Given the description of an element on the screen output the (x, y) to click on. 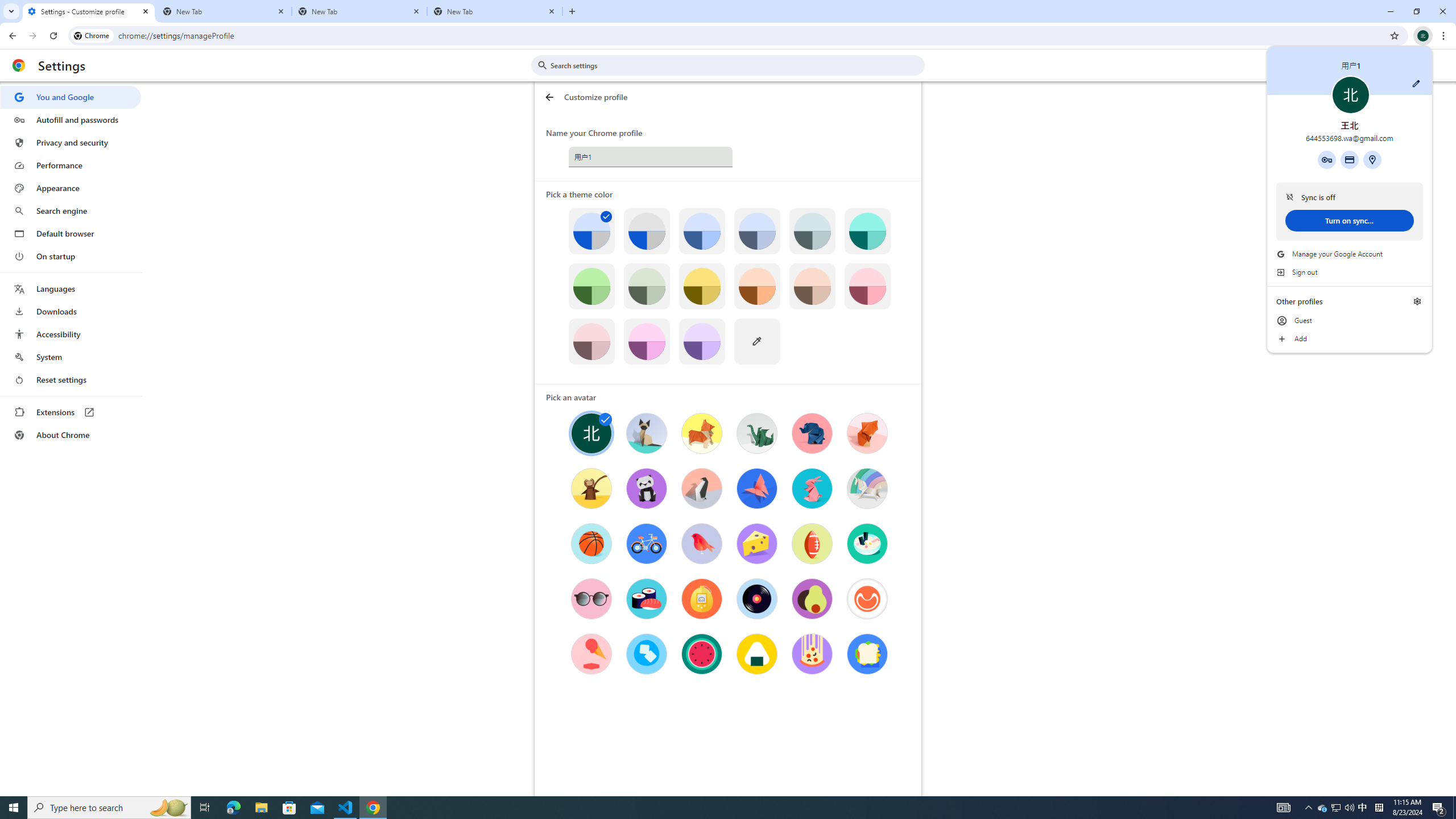
AutomationID: 4105 (1283, 807)
Languages (70, 288)
Microsoft Edge (233, 807)
You and Google (70, 96)
Reset settings (70, 379)
Extensions (70, 412)
Payment methods (1349, 159)
Running applications (700, 807)
Search highlights icon opens search home window (167, 807)
Accessibility (70, 333)
Visual Studio Code - 1 running window (345, 807)
Tray Input Indicator - Chinese (Simplified, China) (1378, 807)
Search engine (70, 210)
